Given the description of an element on the screen output the (x, y) to click on. 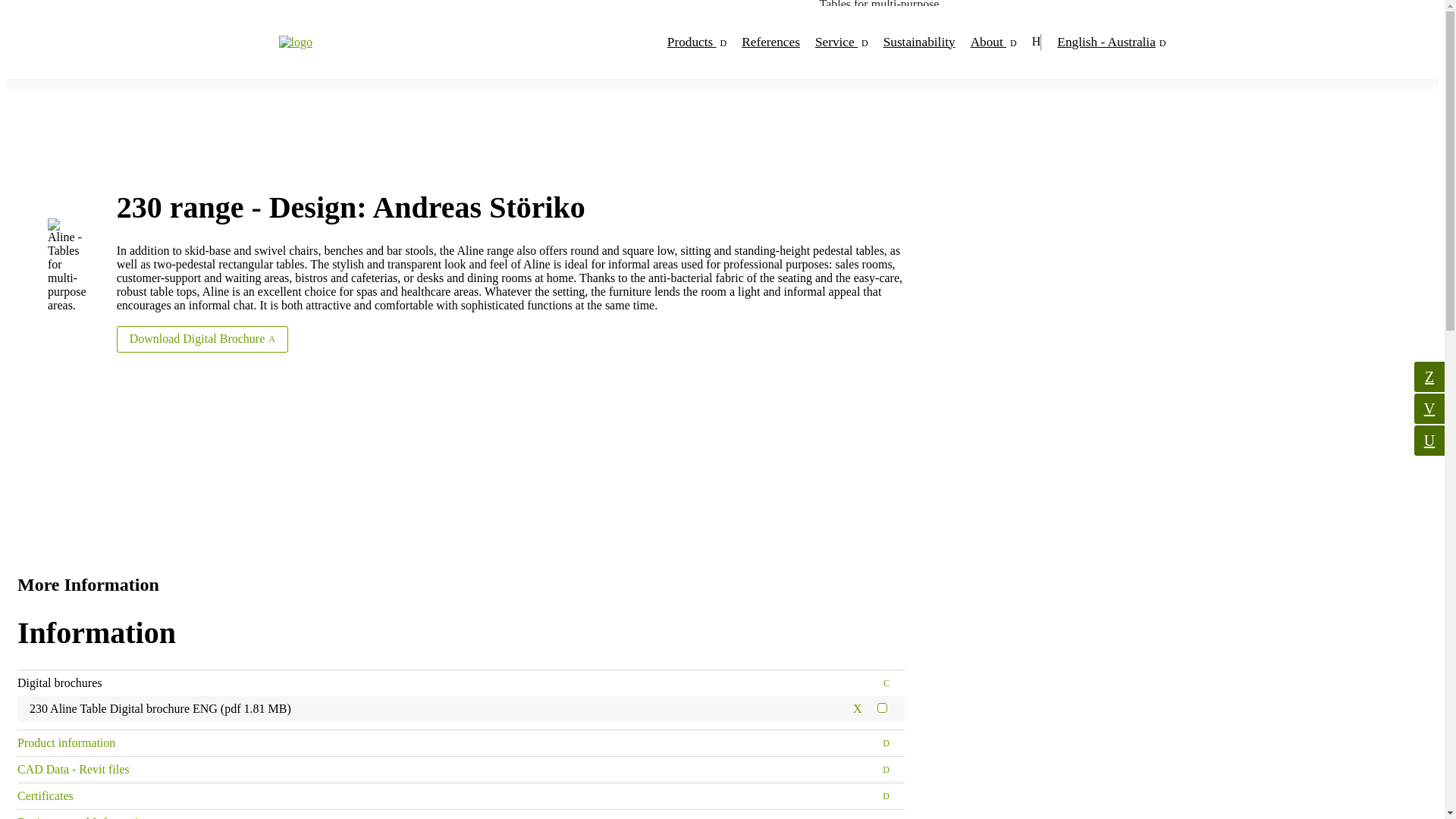
Products (696, 42)
English - Australia (1111, 42)
Sustainability (919, 42)
About (993, 42)
25036 (881, 707)
Service (841, 42)
Sustainability (919, 42)
References (770, 42)
References (770, 42)
